Given the description of an element on the screen output the (x, y) to click on. 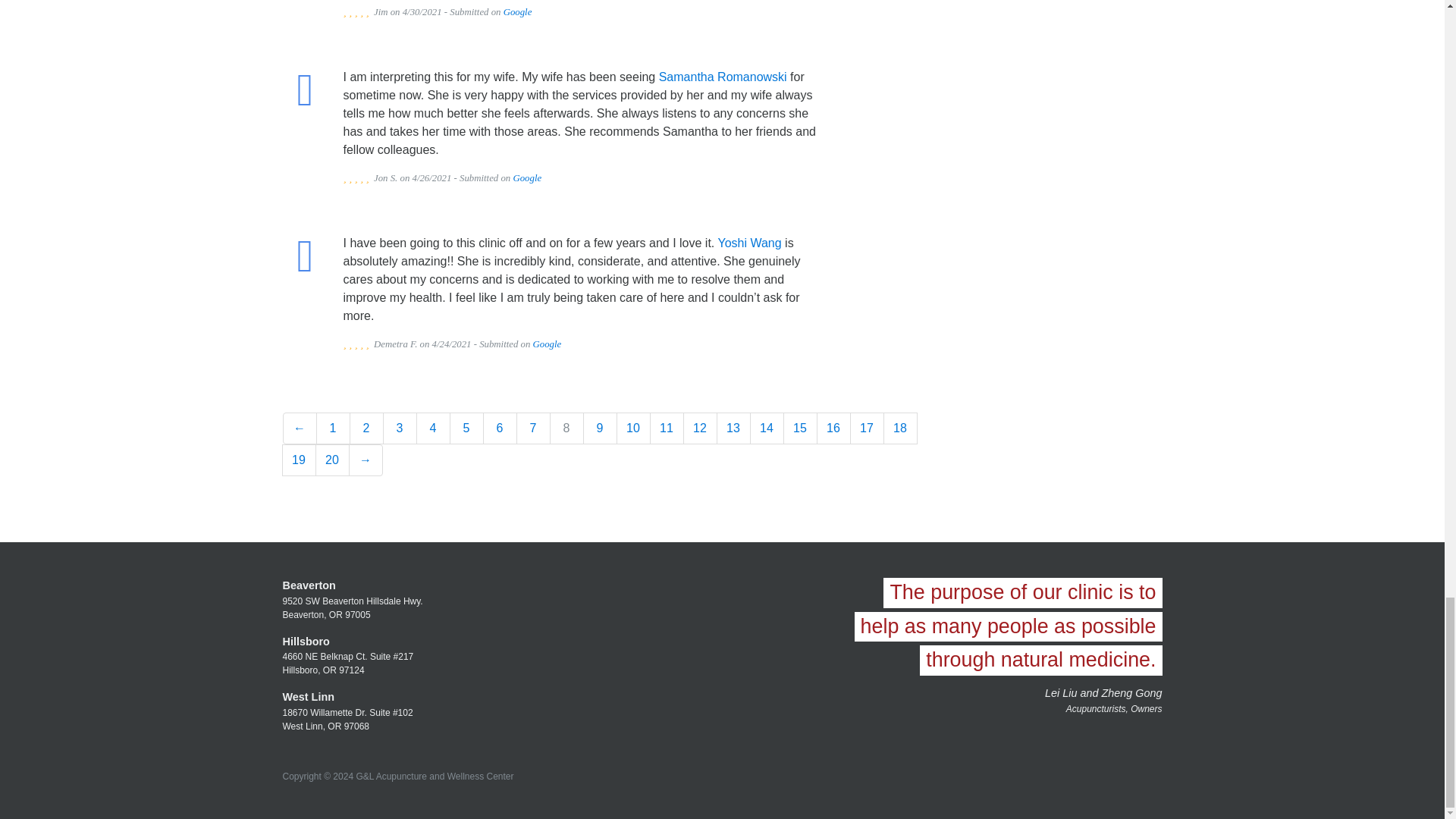
Locations - Hillsboro (305, 641)
Locations - Beaverton (308, 585)
Locations - West Linn (308, 696)
